Given the description of an element on the screen output the (x, y) to click on. 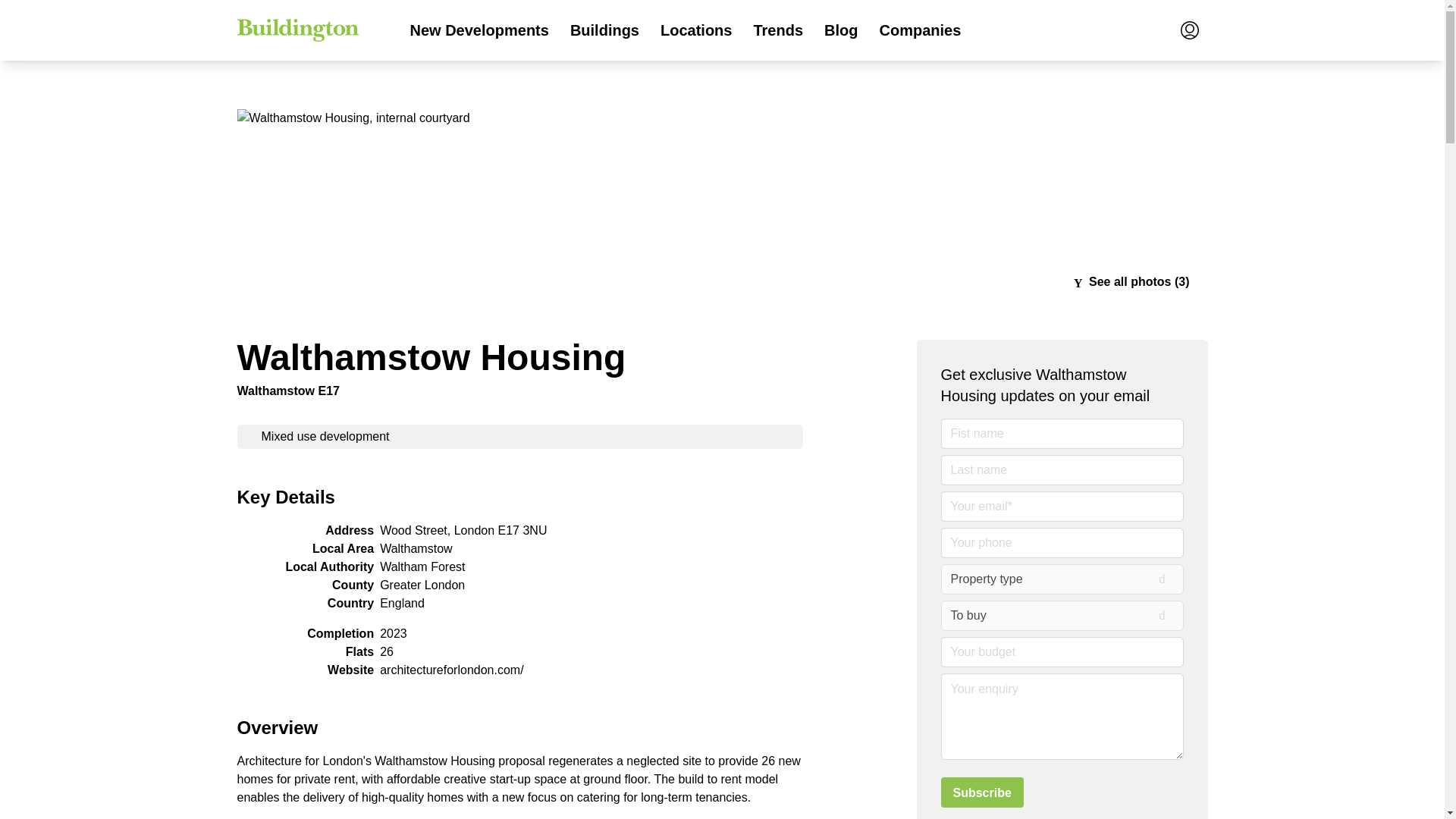
Subscribe (981, 792)
Blog (840, 29)
Locations (695, 29)
New Developments (478, 29)
Walthamstow Housing, internal courtyard (721, 117)
Trends (778, 29)
Buildings (603, 29)
Companies (919, 29)
